Given the description of an element on the screen output the (x, y) to click on. 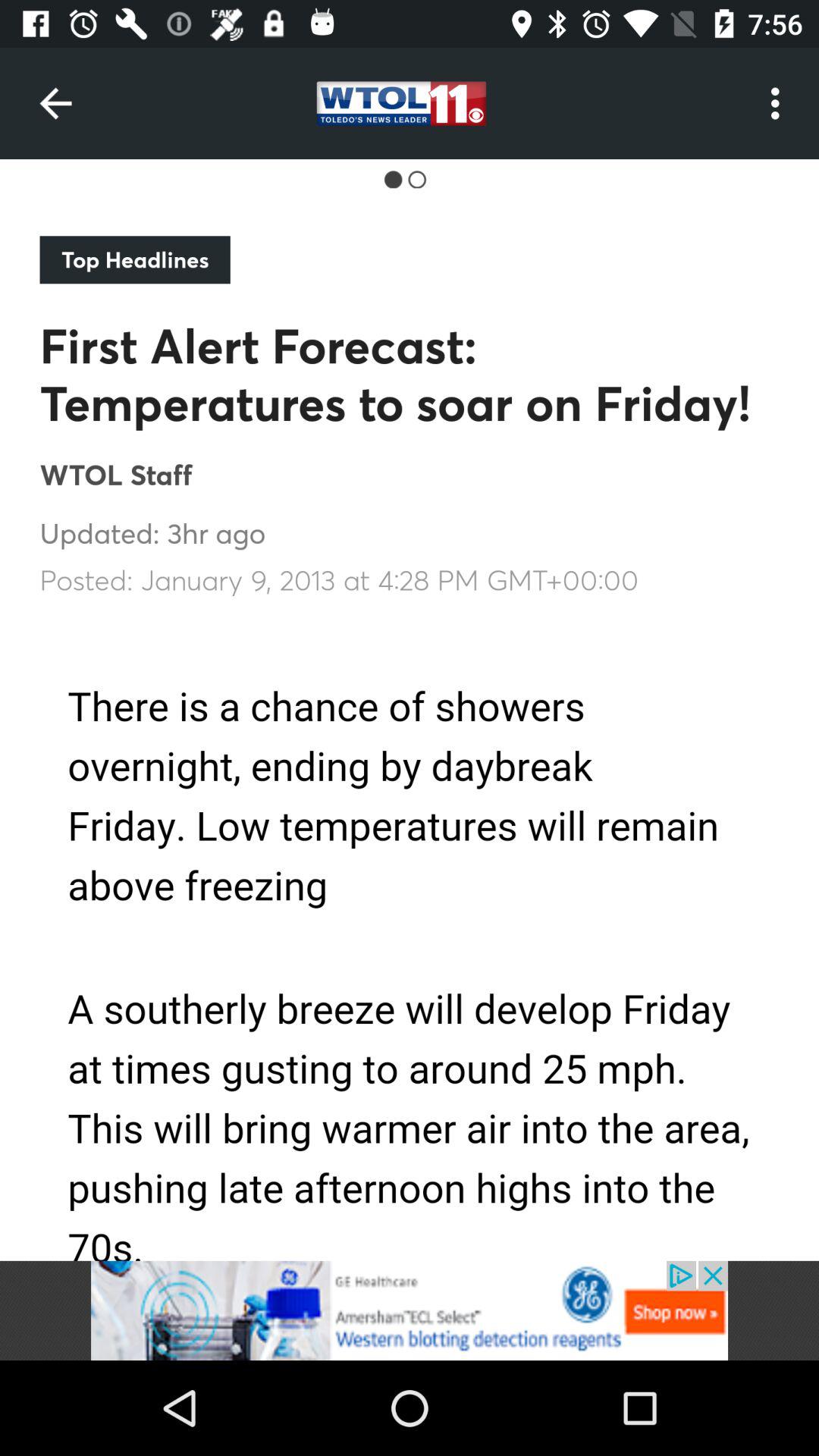
advertisement (409, 1310)
